Given the description of an element on the screen output the (x, y) to click on. 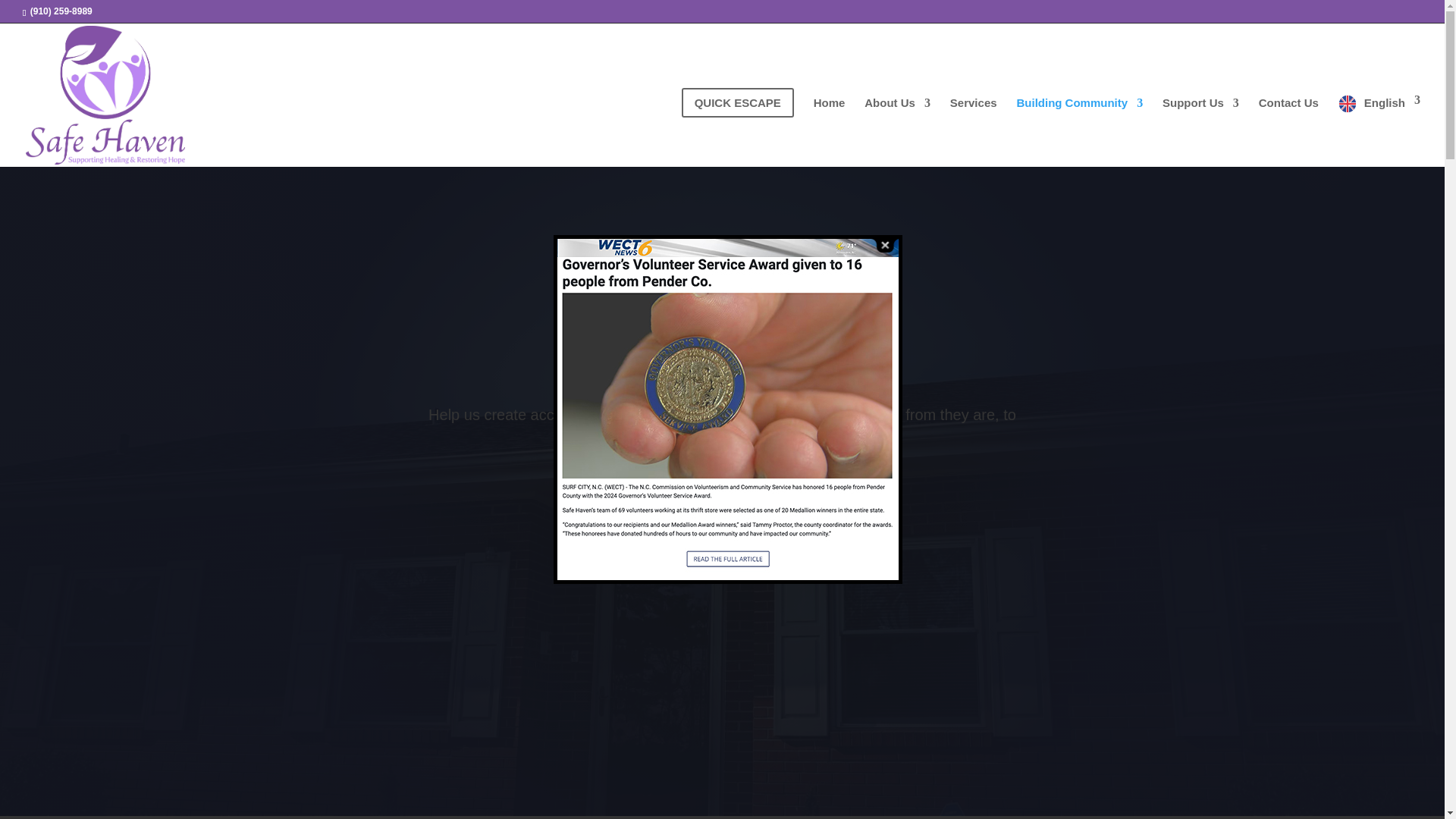
English (1379, 128)
English (1379, 128)
VISIT WITH US (716, 486)
Support Us (1200, 127)
QUICK ESCAPE (737, 119)
Building Community (1079, 127)
Contact Us (1289, 127)
About Us (897, 127)
